Given the description of an element on the screen output the (x, y) to click on. 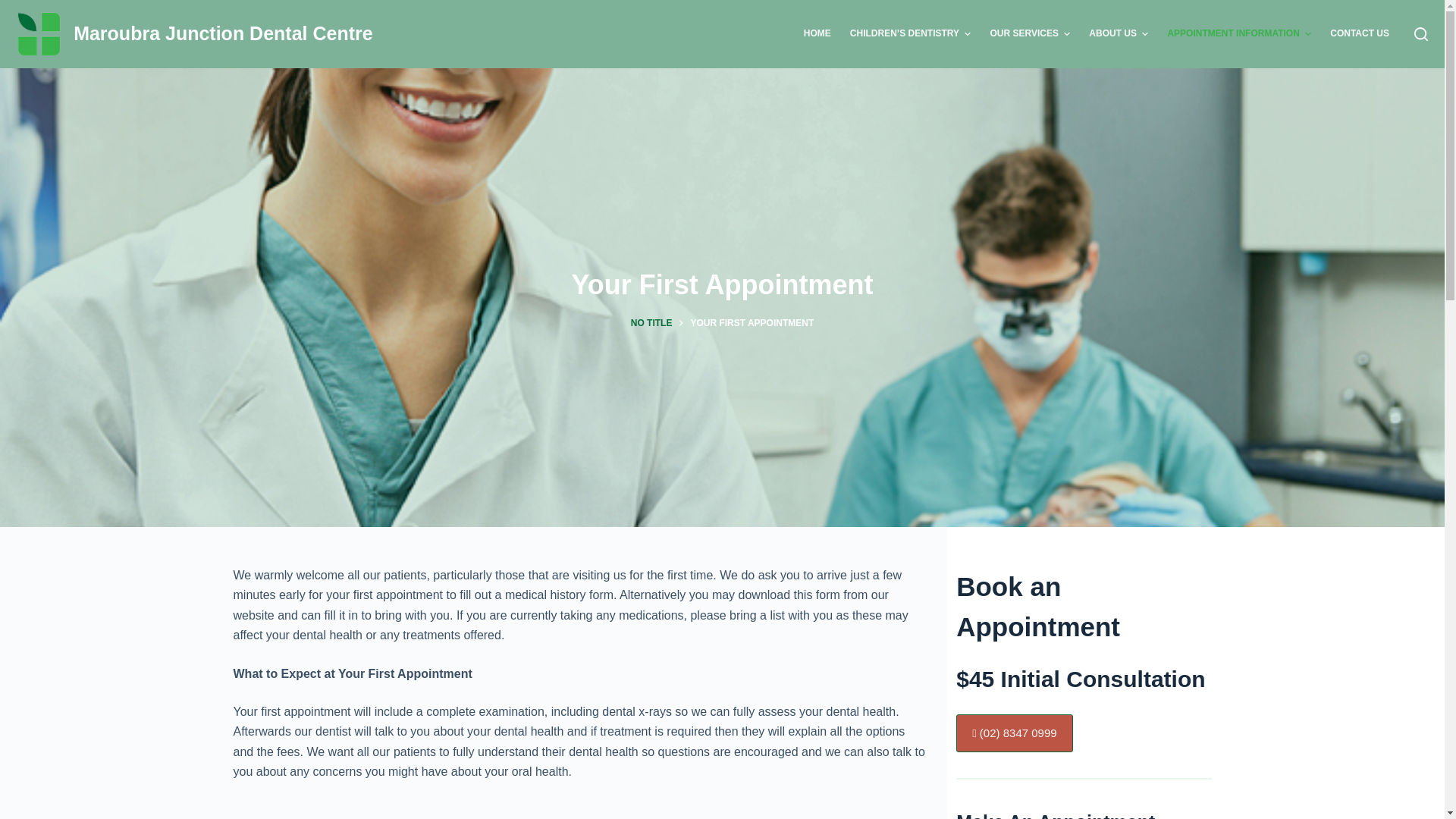
Skip to content Element type: text (15, 7)
HOME Element type: text (816, 34)
APPOINTMENT INFORMATION Element type: text (1239, 34)
Maroubra Junction Dental Centre Element type: text (223, 32)
OUR SERVICES Element type: text (1029, 34)
CONTACT US Element type: text (1360, 34)
ABOUT US Element type: text (1118, 34)
NO TITLE Element type: text (651, 323)
